Given the description of an element on the screen output the (x, y) to click on. 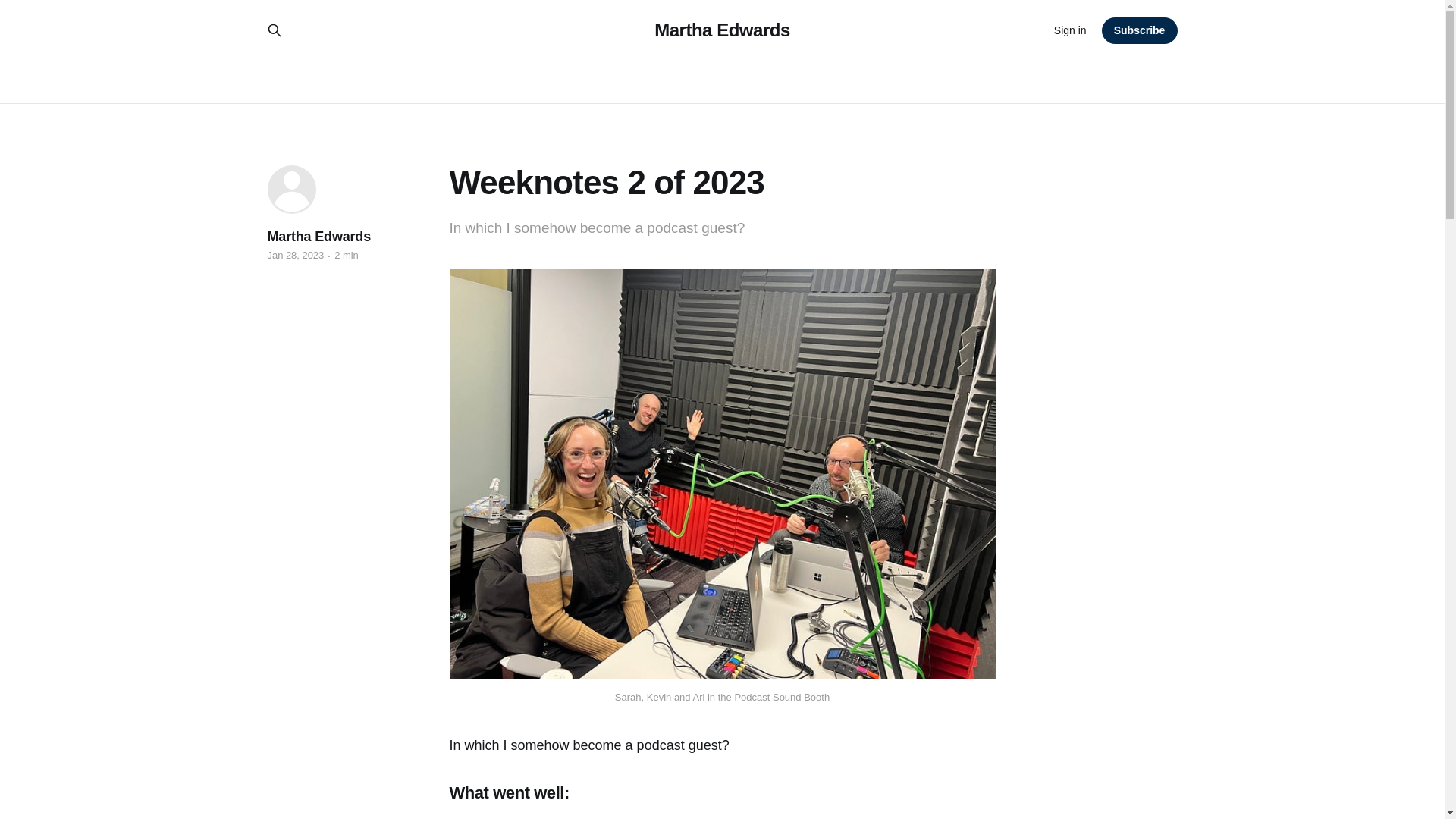
Subscribe (1139, 29)
Martha Edwards (721, 30)
Sign in (1070, 30)
Martha Edwards (318, 236)
